Given the description of an element on the screen output the (x, y) to click on. 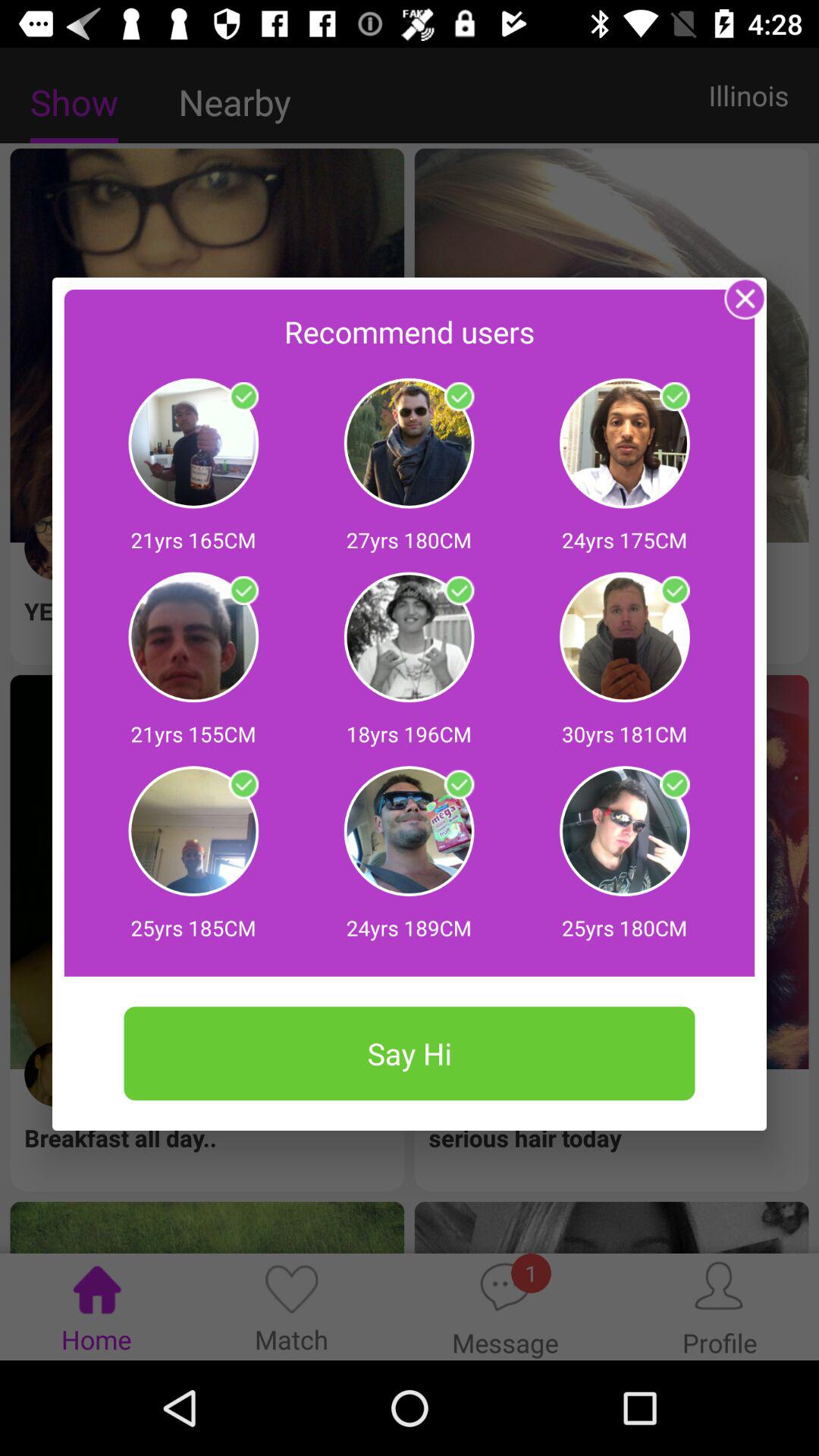
clik (674, 396)
